Given the description of an element on the screen output the (x, y) to click on. 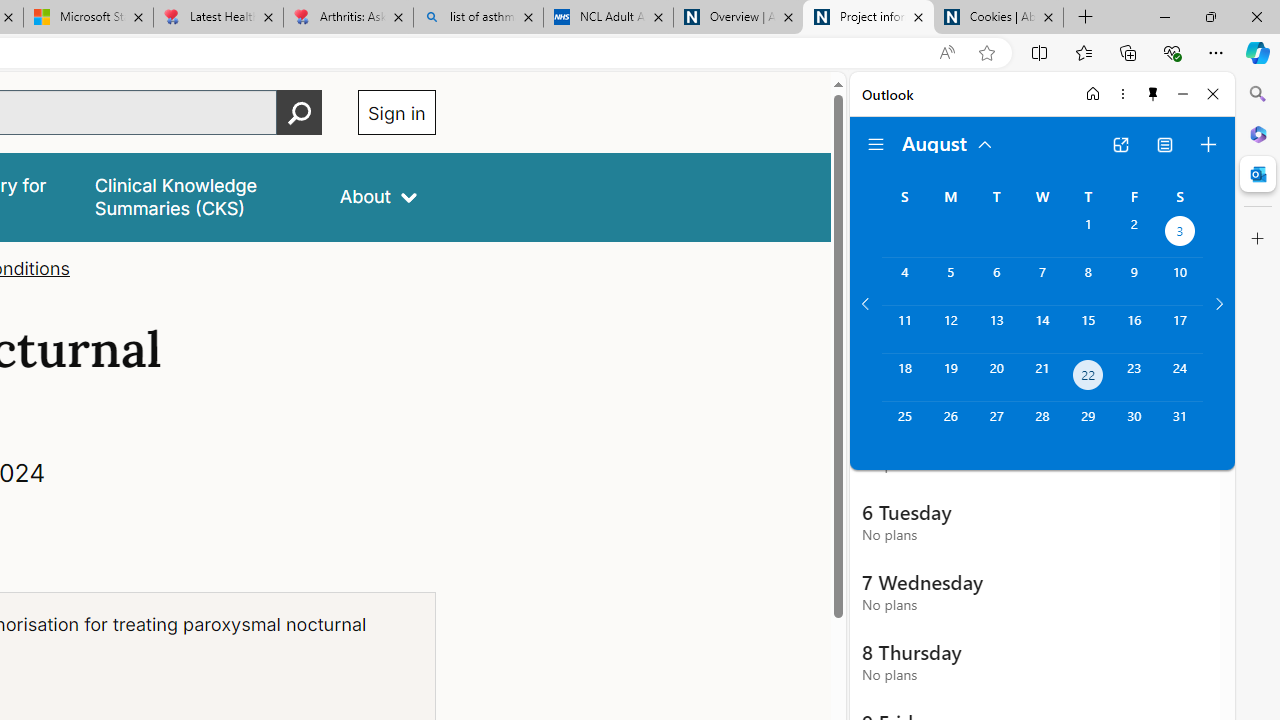
Settings and more (Alt+F) (1215, 52)
Minimize (1182, 93)
Read aloud this page (Ctrl+Shift+U) (946, 53)
Restore (1210, 16)
Wednesday, August 7, 2024.  (1042, 281)
Sunday, August 18, 2024.  (904, 377)
Wednesday, August 14, 2024.  (1042, 329)
Close Outlook pane (1258, 174)
Sign in (396, 112)
Folder navigation (876, 144)
Sunday, August 4, 2024.  (904, 281)
About (378, 196)
Friday, August 30, 2024.  (1134, 425)
Wednesday, August 28, 2024.  (1042, 425)
